Given the description of an element on the screen output the (x, y) to click on. 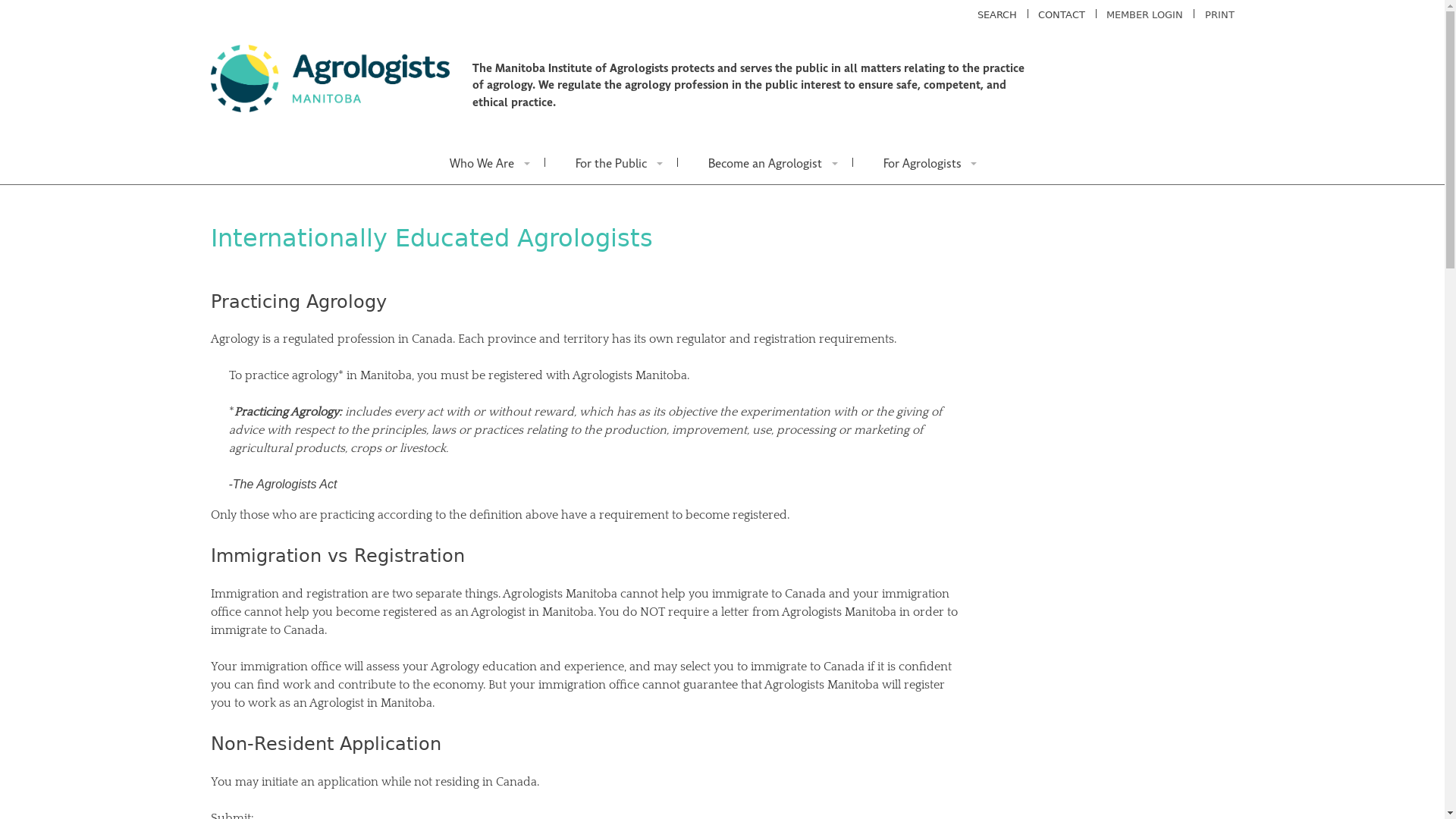
MEMBER LOGIN Element type: text (1144, 14)
Who We Are Element type: text (481, 161)
For Agrologists Element type: text (921, 161)
PRINT Element type: text (1218, 14)
For the Public Element type: text (610, 161)
Become an Agrologist Element type: text (765, 161)
